Given the description of an element on the screen output the (x, y) to click on. 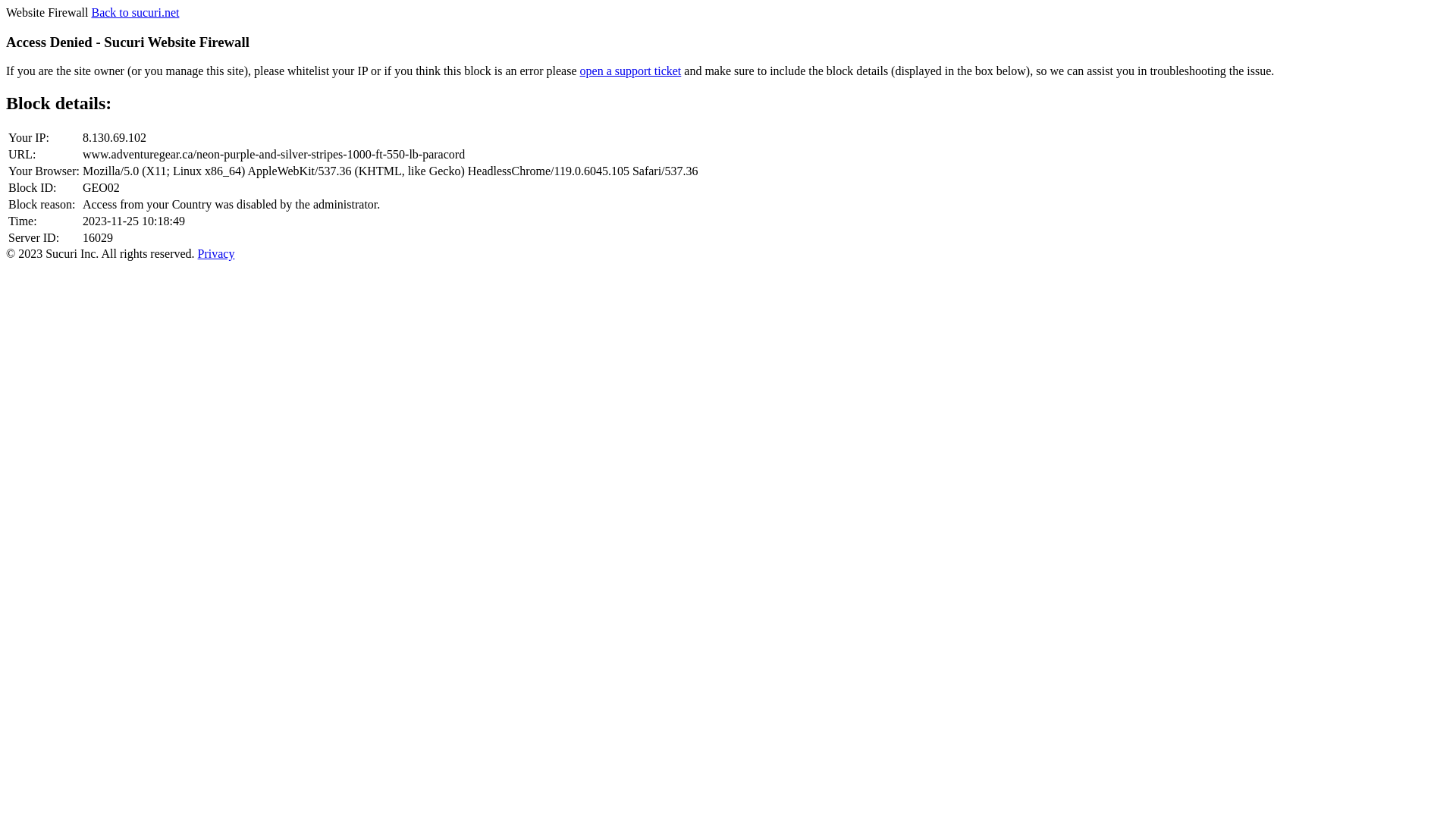
Back to sucuri.net Element type: text (134, 12)
Privacy Element type: text (216, 253)
open a support ticket Element type: text (630, 70)
